Given the description of an element on the screen output the (x, y) to click on. 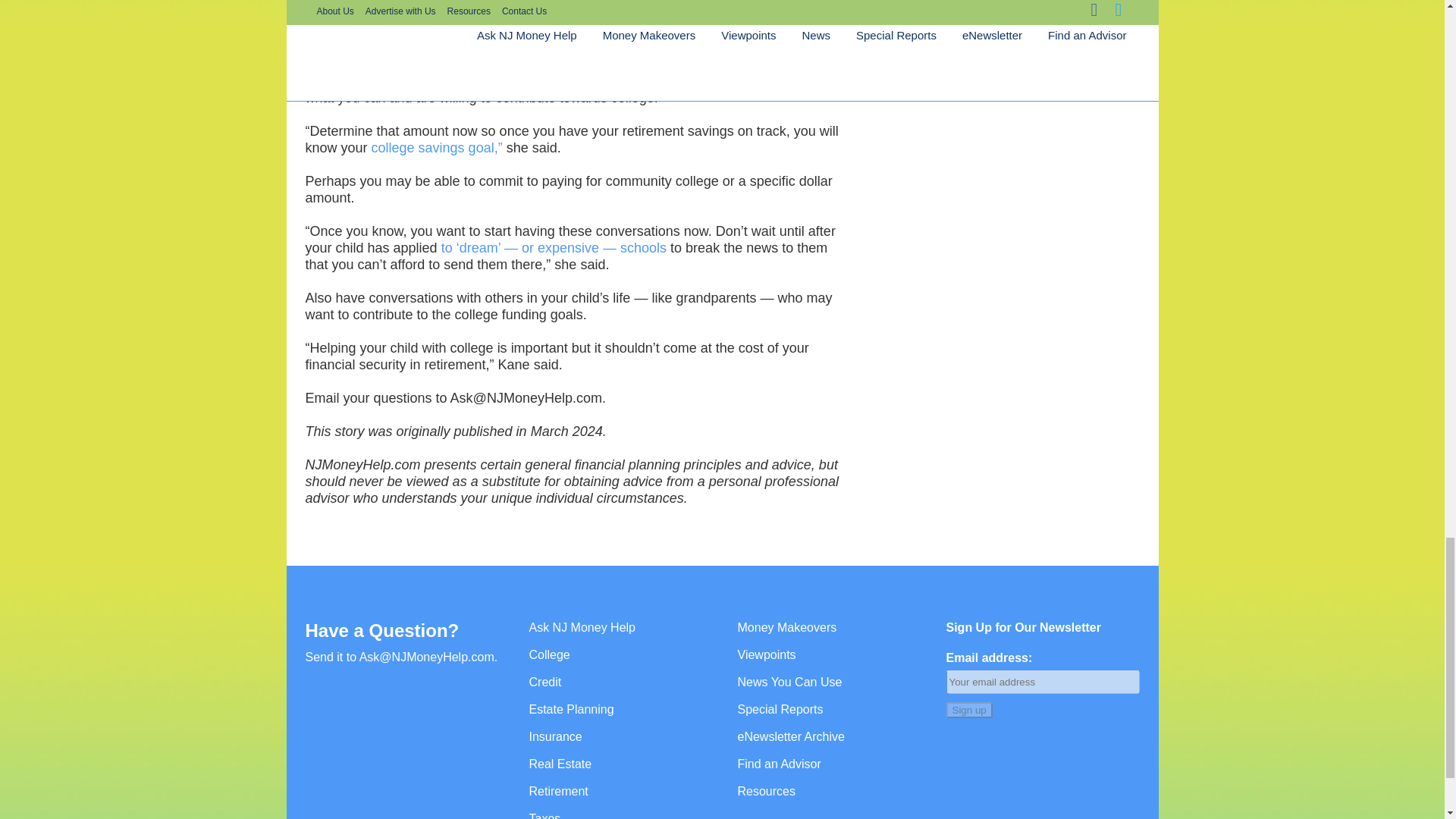
Sign up (969, 709)
